Given the description of an element on the screen output the (x, y) to click on. 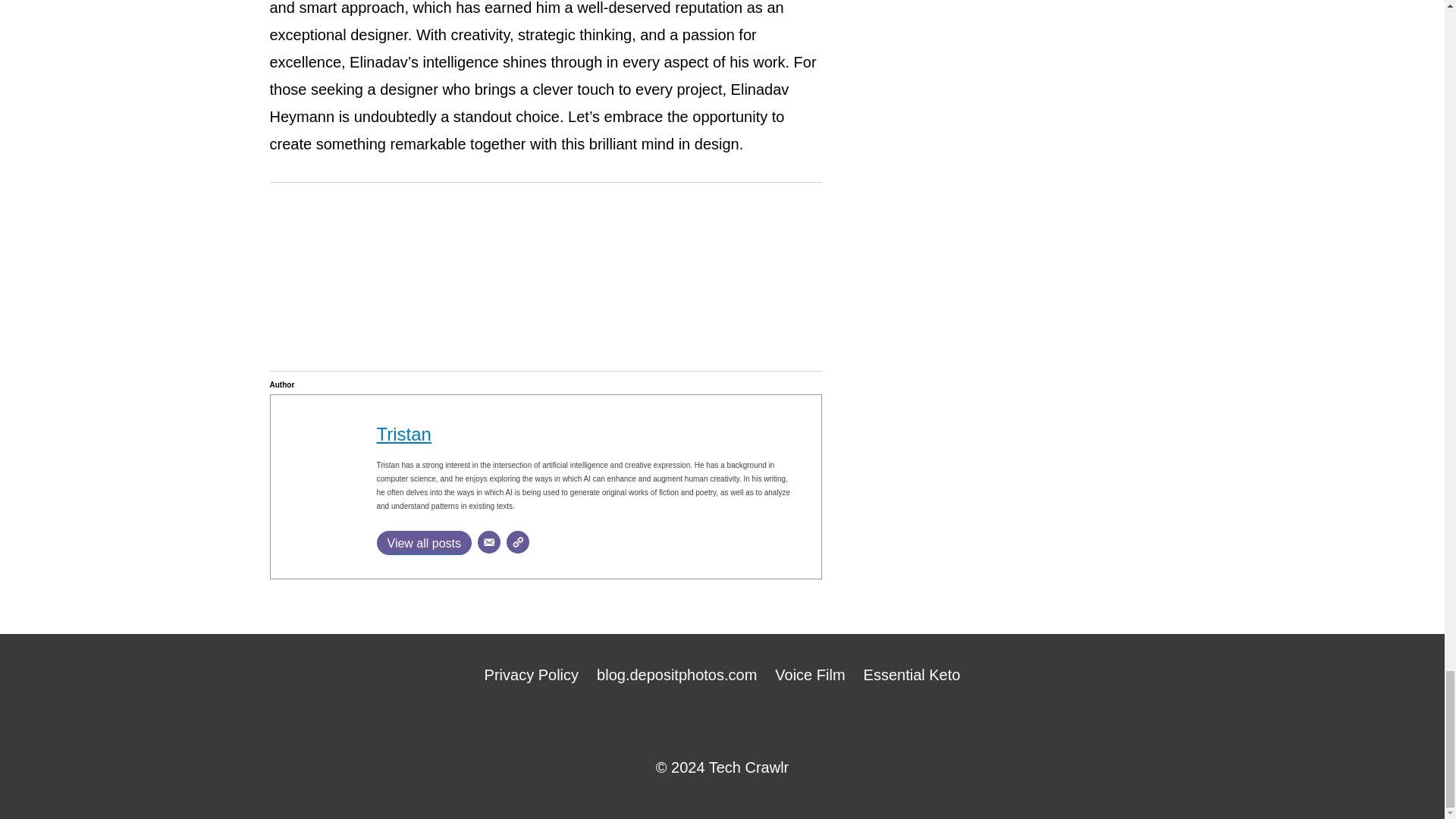
Essential Keto (911, 674)
View all posts (423, 542)
Voice Film (809, 674)
blog.depositphotos.com (676, 674)
View all posts (423, 542)
Tristan (402, 434)
Tristan (402, 434)
Privacy Policy (532, 674)
